Given the description of an element on the screen output the (x, y) to click on. 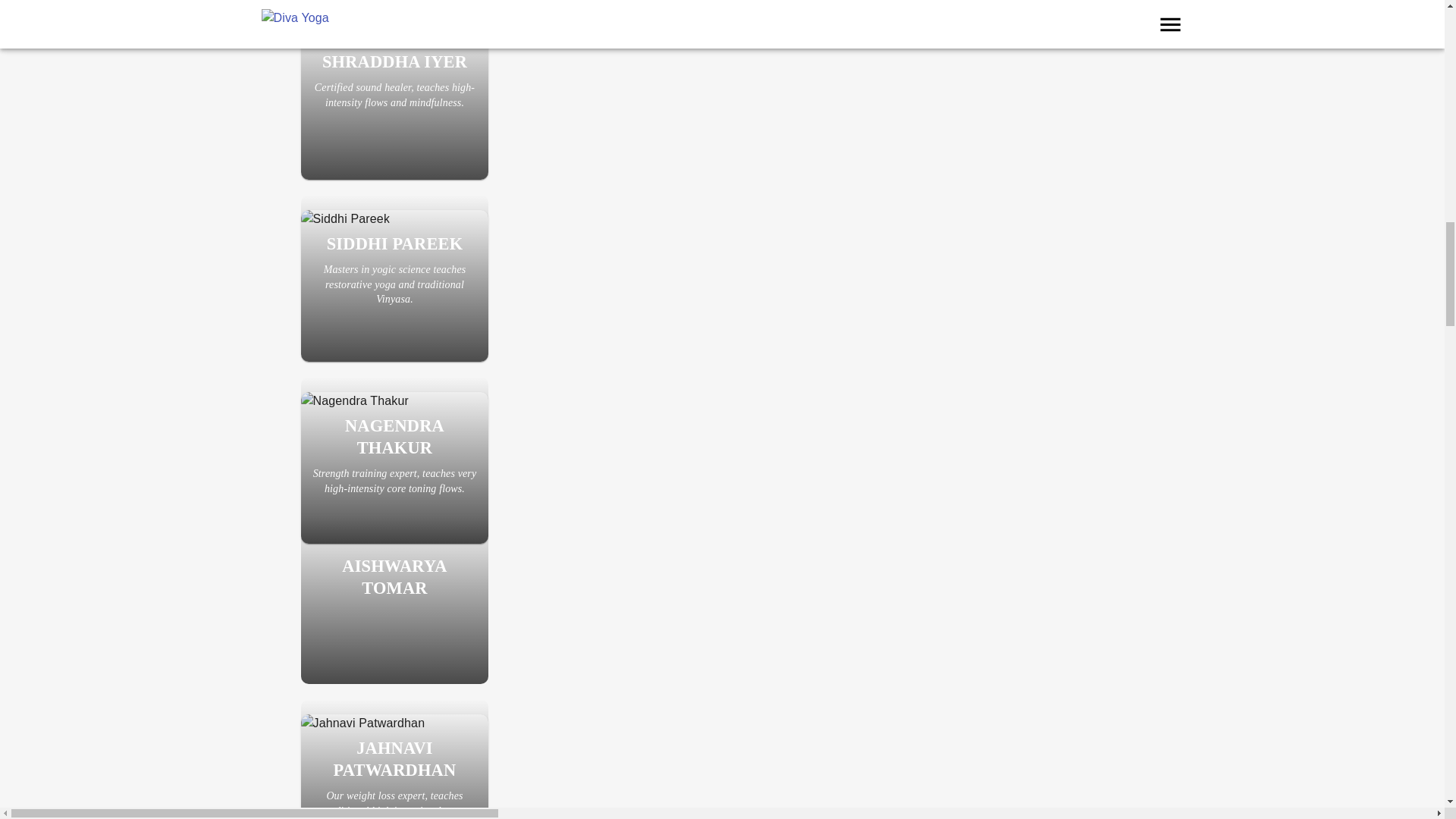
Previous (310, 6)
